Given the description of an element on the screen output the (x, y) to click on. 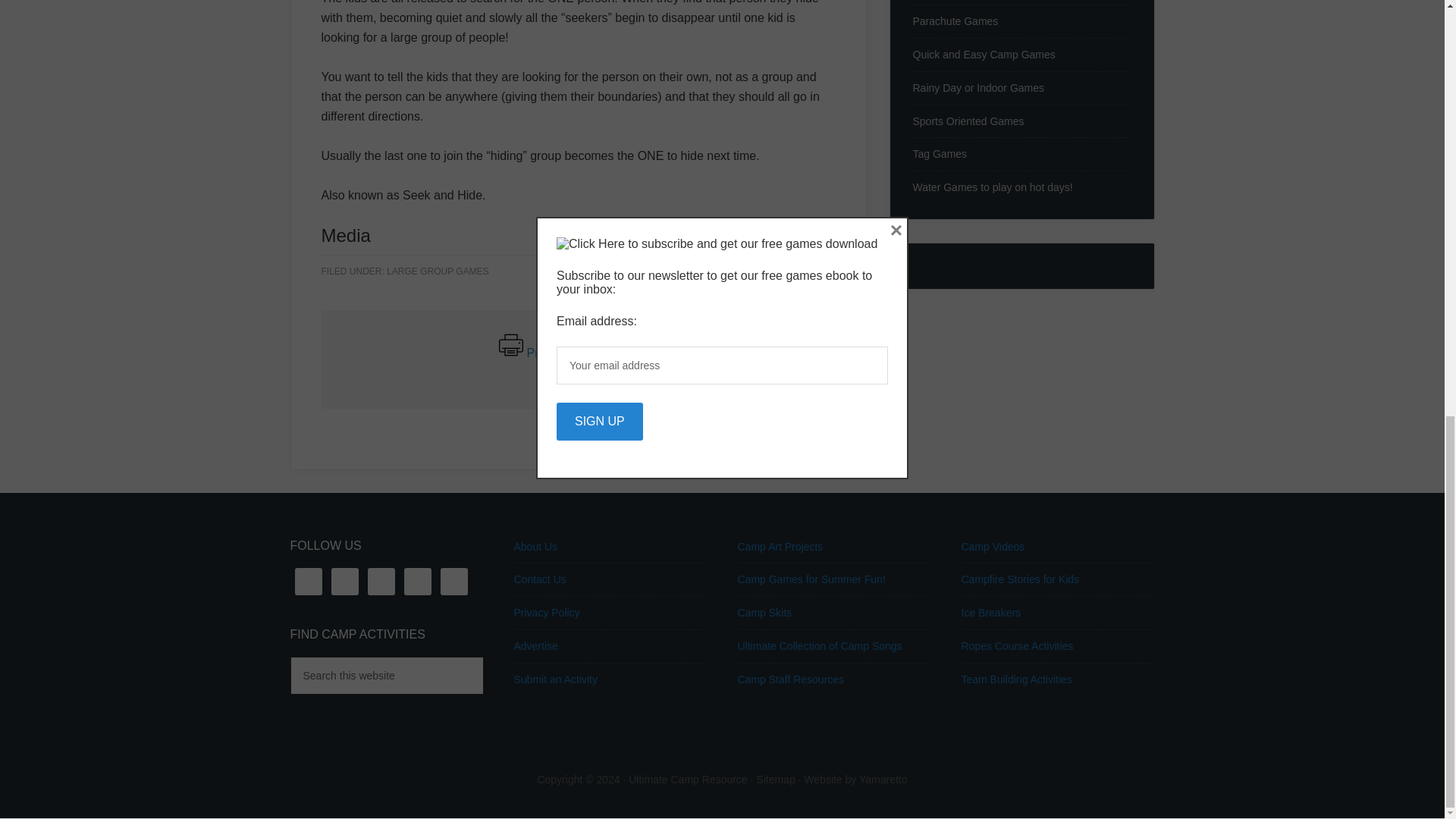
Print All Camp Activities! (591, 352)
Quick and Easy Camp Games (983, 54)
Parachute Games (955, 21)
LARGE GROUP GAMES (437, 271)
Rainy Day or Indoor Games (978, 87)
